Given the description of an element on the screen output the (x, y) to click on. 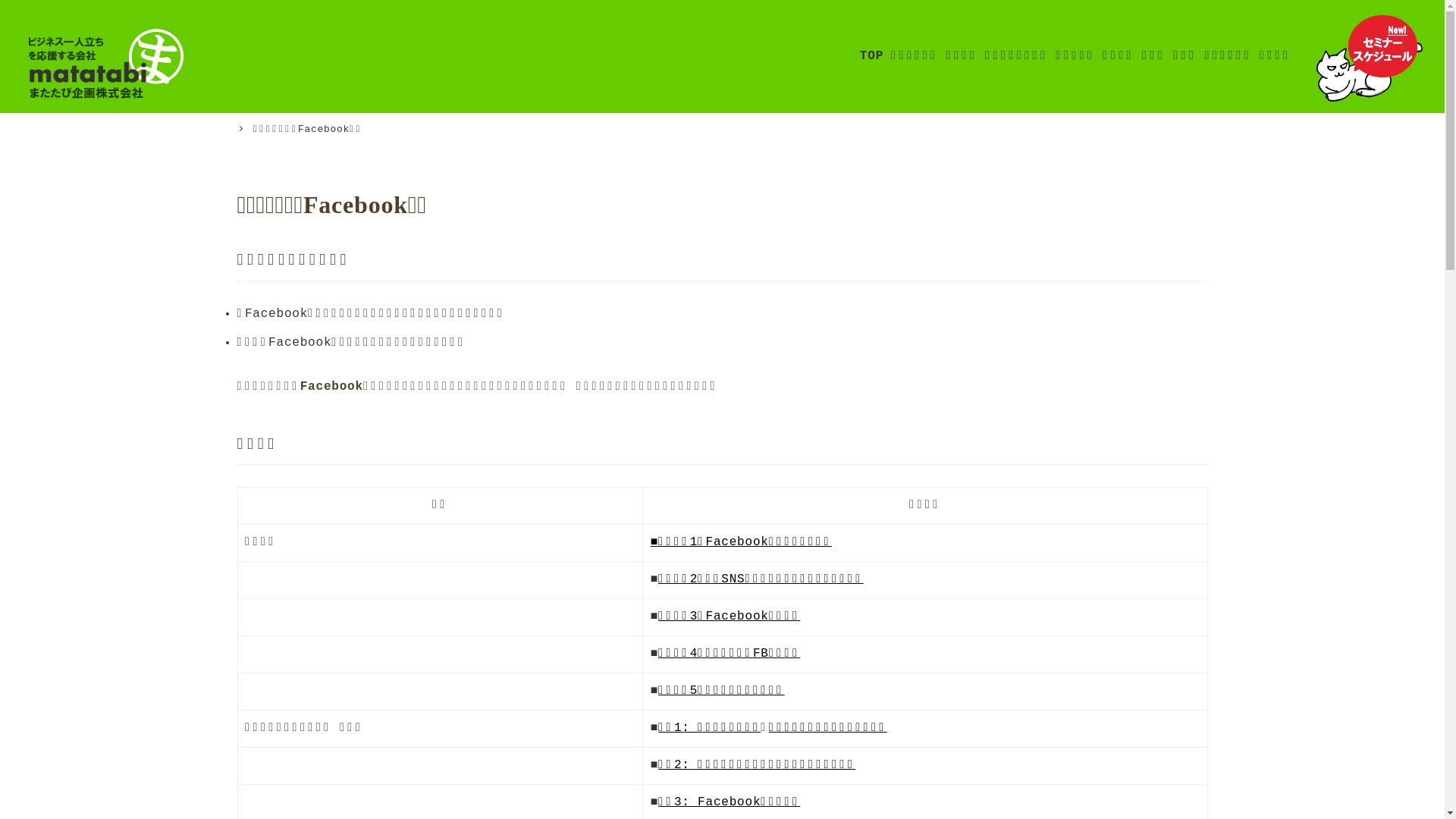
TOP Element type: text (871, 56)
